Given the description of an element on the screen output the (x, y) to click on. 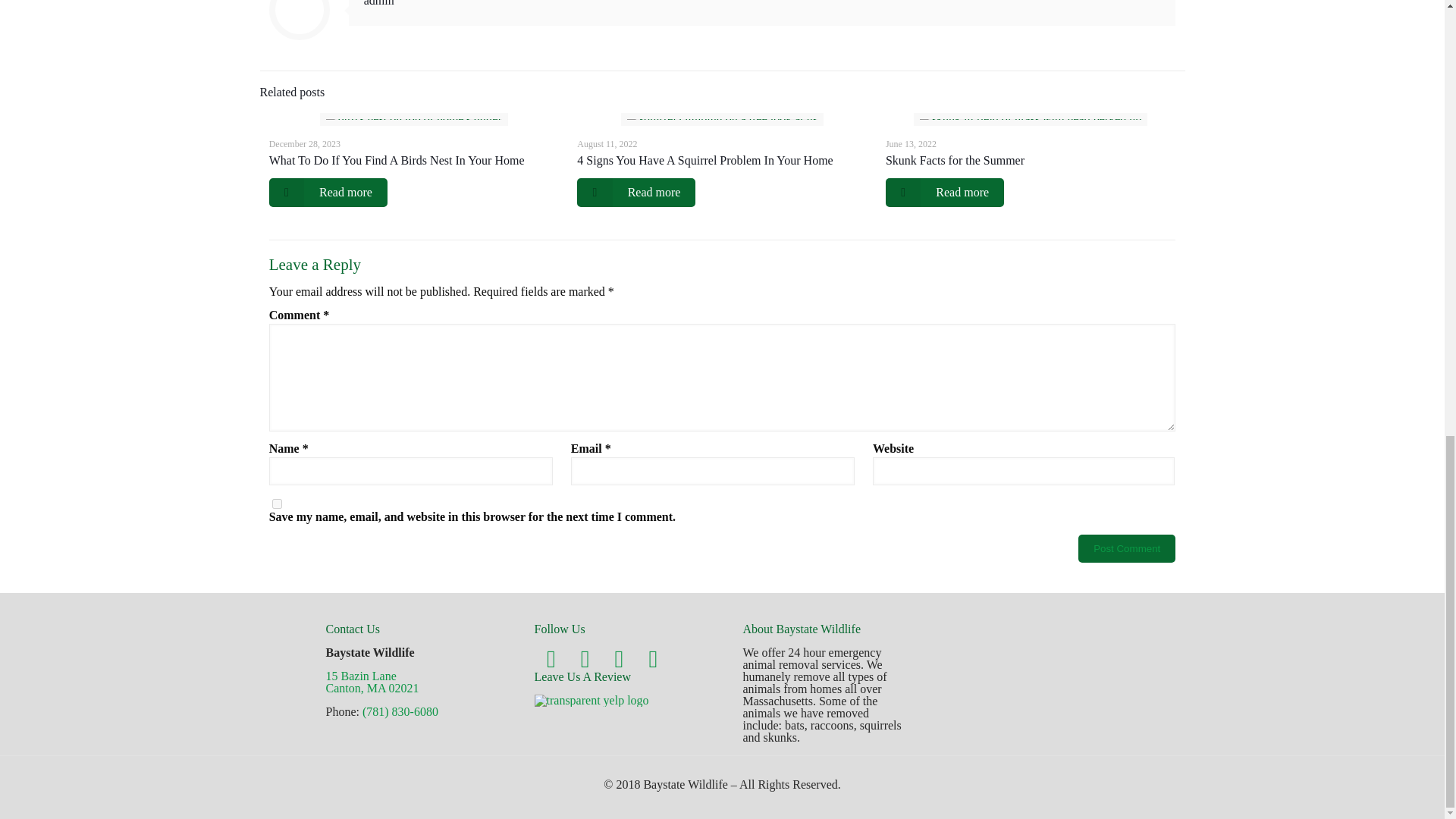
Twitter (584, 658)
Post Comment (1126, 548)
RSS (652, 658)
Facebook (550, 658)
Pinterest (619, 658)
yes (277, 503)
